Given the description of an element on the screen output the (x, y) to click on. 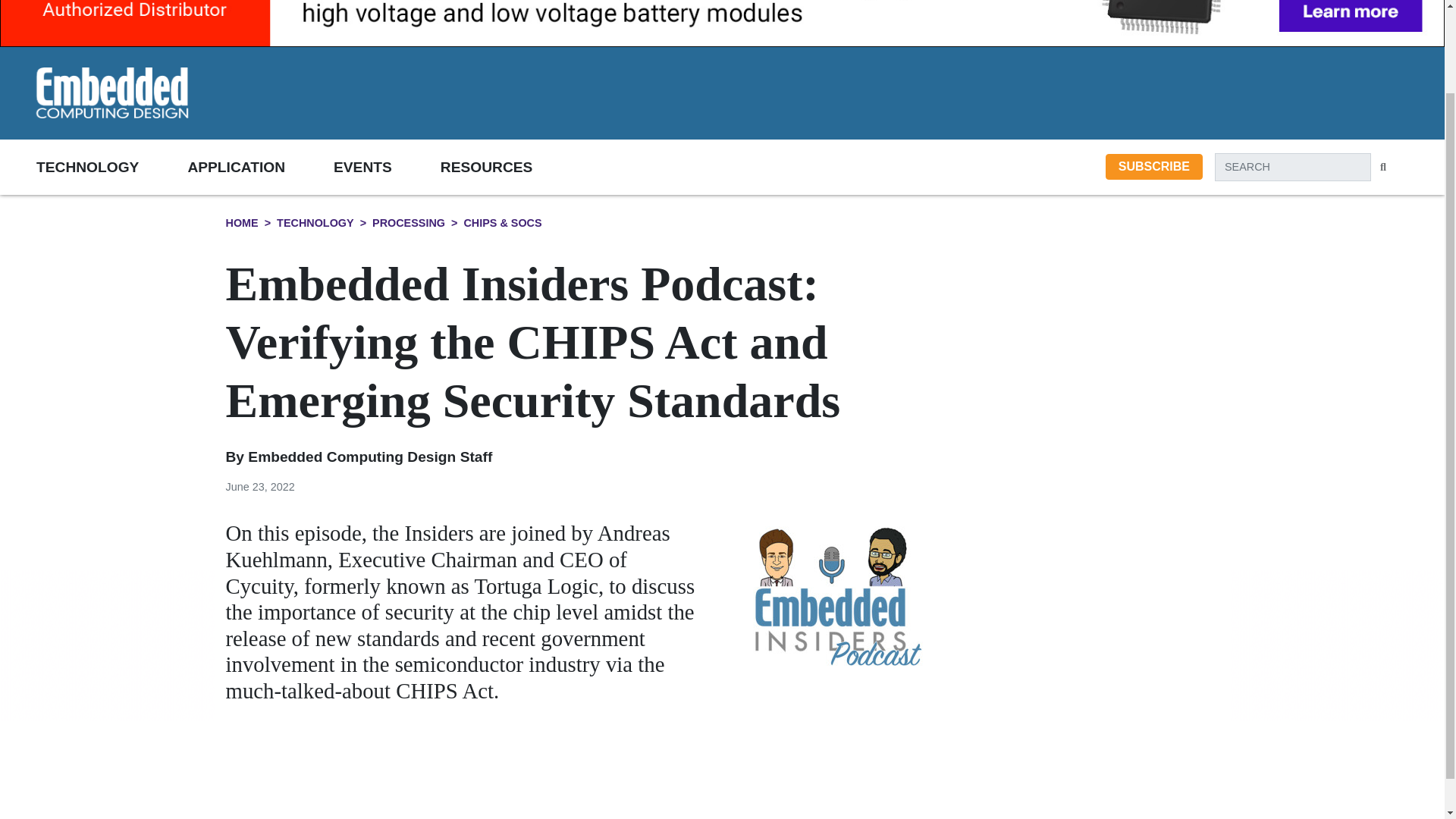
APPLICATION (260, 166)
TECHNOLOGY (111, 166)
RESOURCES (510, 166)
EVENTS (387, 166)
3rd party ad content (896, 92)
